Given the description of an element on the screen output the (x, y) to click on. 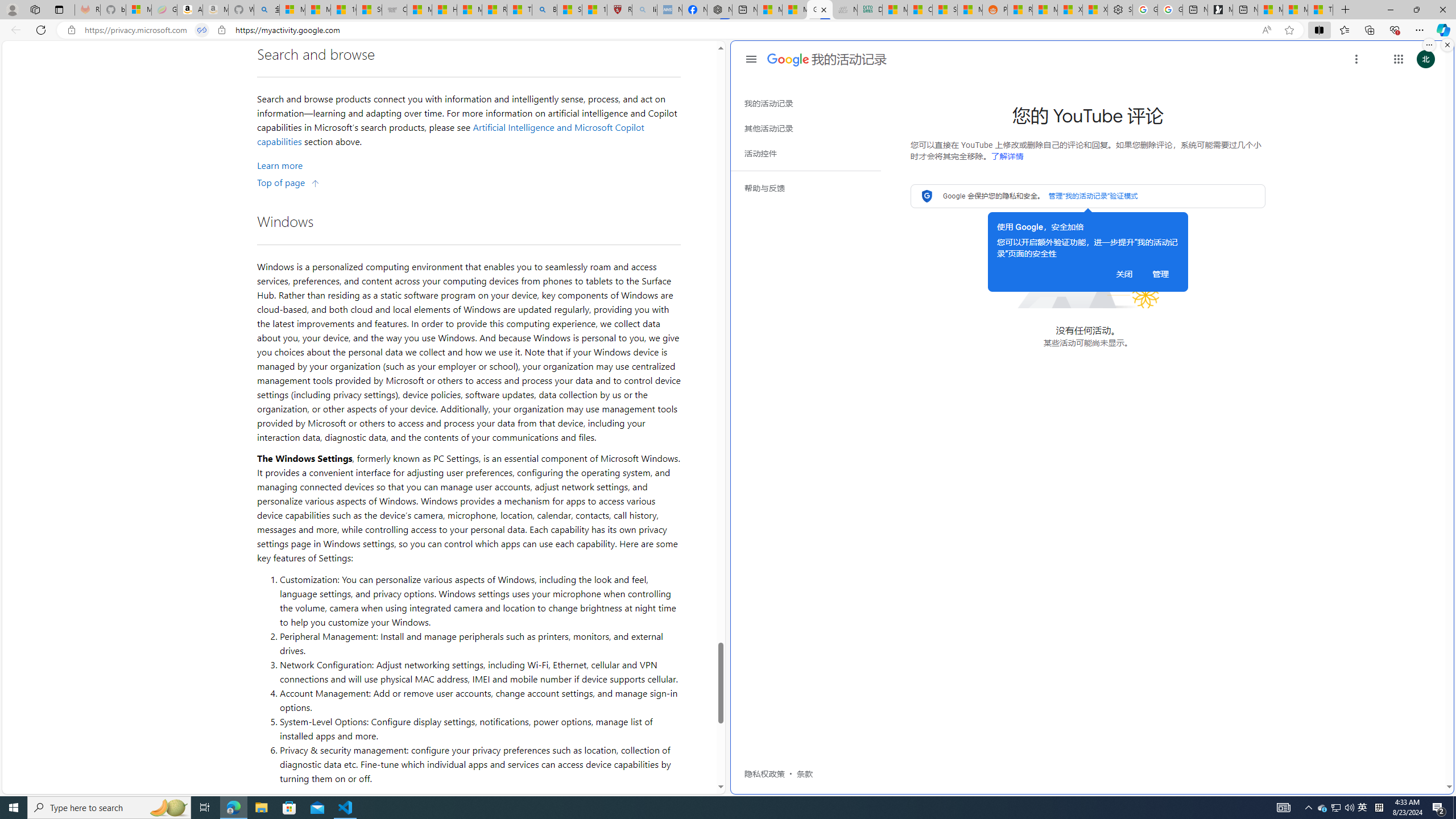
Read aloud this page (Ctrl+Shift+U) (1266, 29)
Close (1442, 9)
Artificial Intelligence and Microsoft Copilot capabilities (451, 133)
Recipes - MSN (494, 9)
Collections (1369, 29)
Favorites (1344, 29)
Data collection summary for Windows (575, 799)
View site information (221, 29)
Workspaces (34, 9)
